Given the description of an element on the screen output the (x, y) to click on. 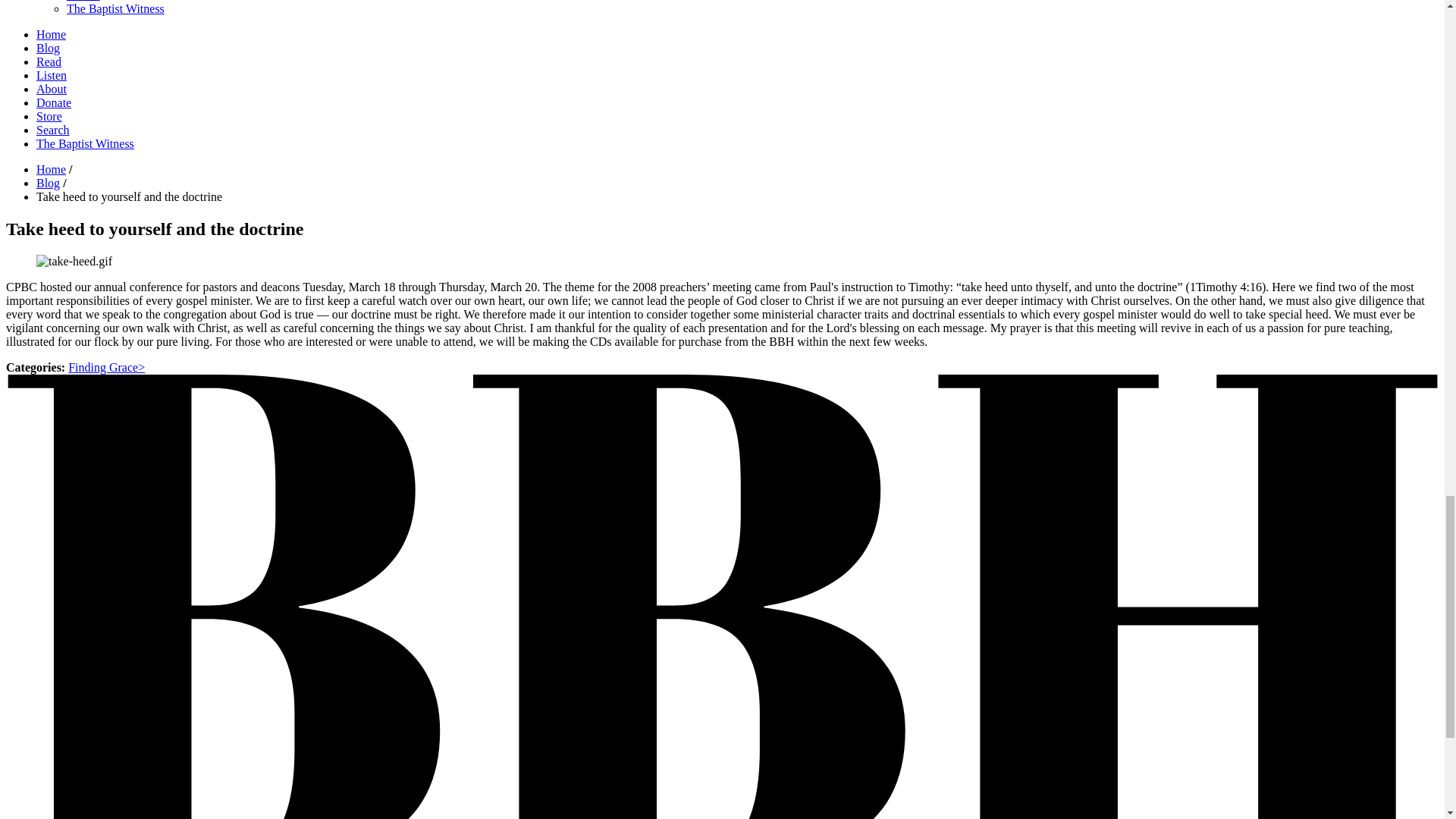
Listen (51, 74)
Read (48, 61)
Search (83, 0)
Blog (47, 47)
Store (49, 115)
Donate (53, 102)
Home (50, 33)
The Baptist Witness (115, 8)
About (51, 88)
